Given the description of an element on the screen output the (x, y) to click on. 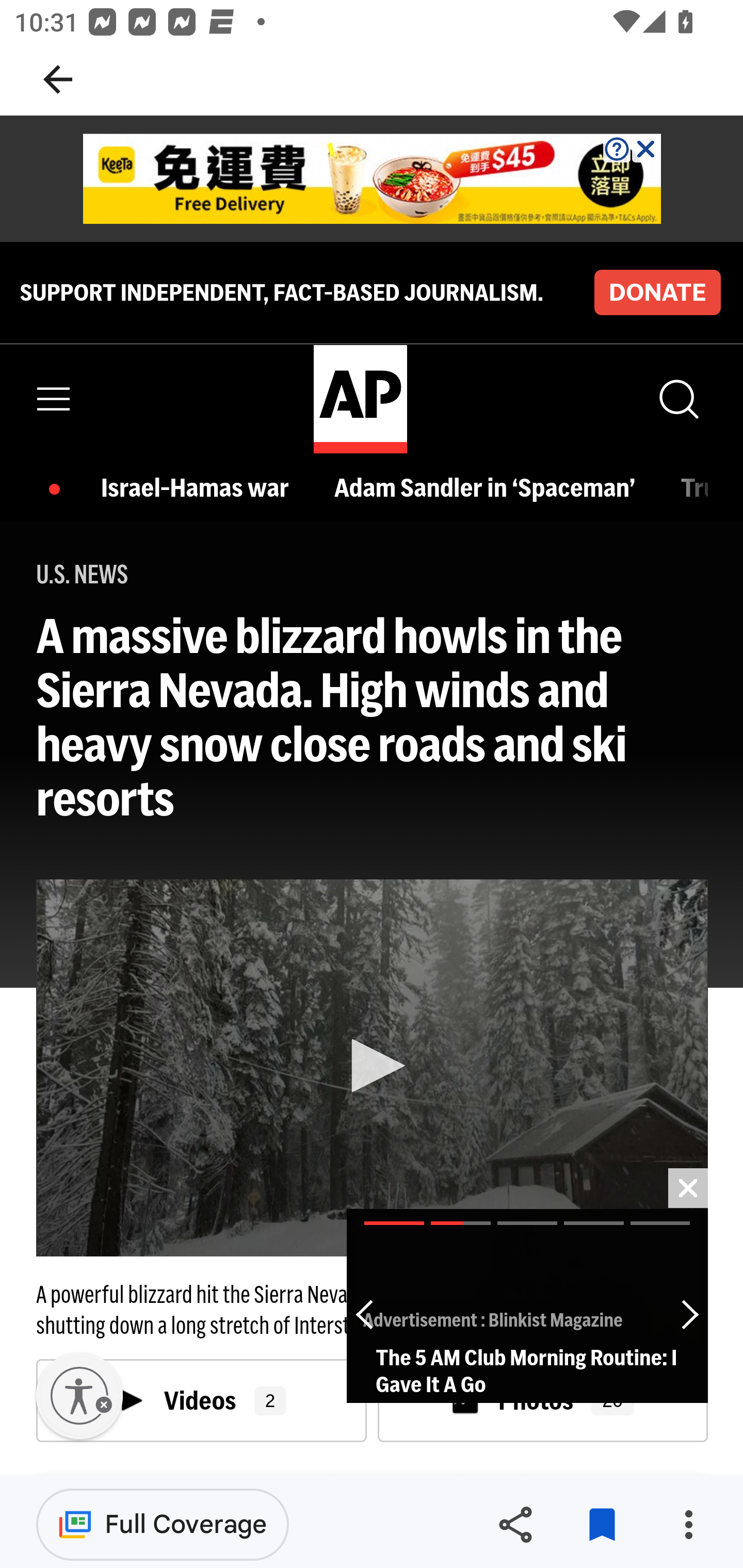
Navigate up (57, 79)
o86KnEM_1693809266736_0 (372, 179)
DONATE (657, 291)
home page AP Logo (359, 398)
Menu (54, 398)
Show Search (677, 398)
Israel-Hamas war (200, 487)
Adam Sandler in ‘Spaceman’ (489, 487)
U.S. NEWS (83, 574)
Unable to play media. (372, 1067)
Play (372, 1066)
Enable accessibility (79, 1395)
Share (514, 1524)
Remove from saved stories (601, 1524)
More options (688, 1524)
Full Coverage (162, 1524)
